Given the description of an element on the screen output the (x, y) to click on. 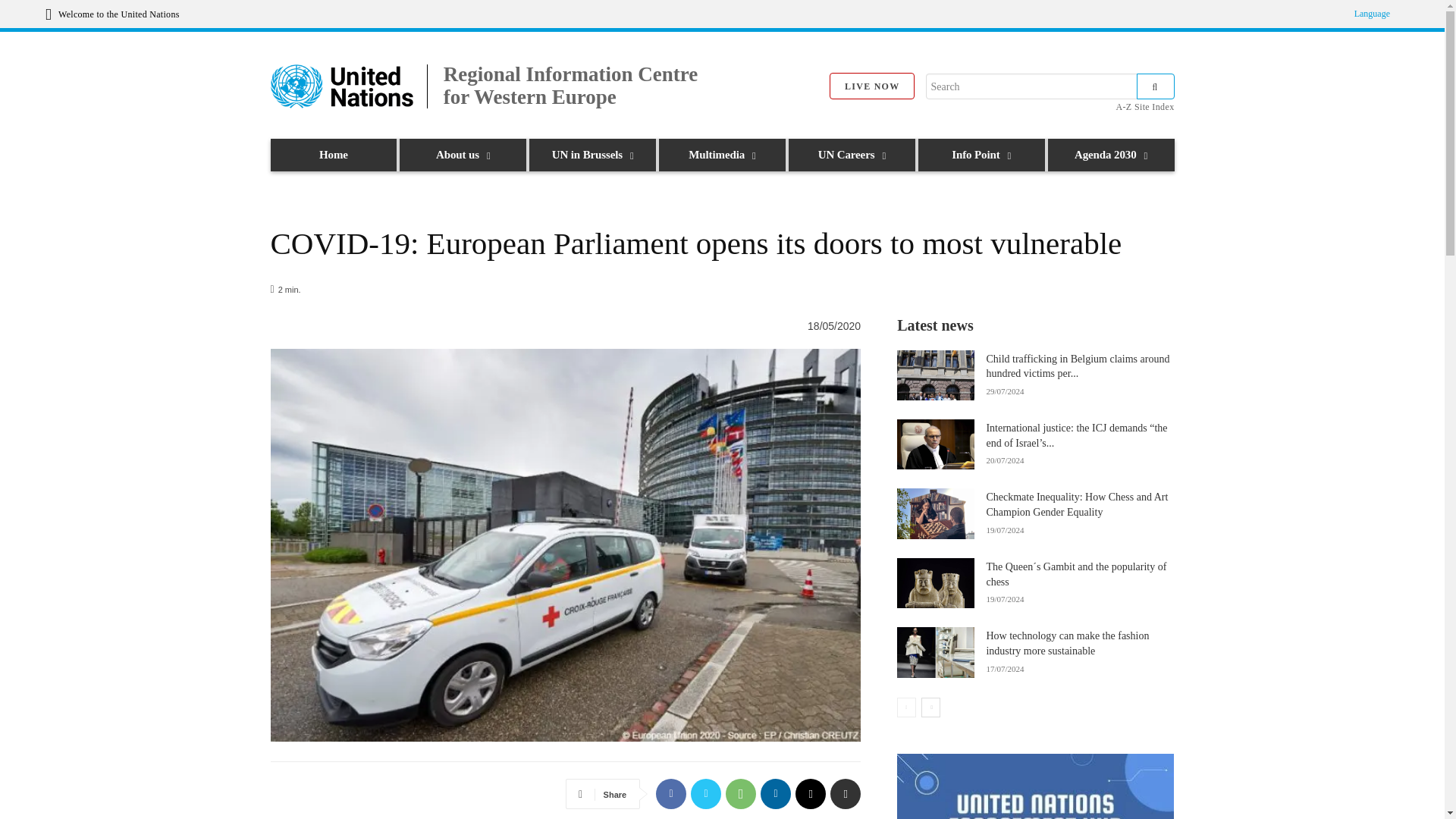
WhatsApp (740, 793)
Twitter (705, 793)
Welcome to the United Nations (112, 13)
Email (809, 793)
Facebook (670, 793)
Live now (871, 85)
Linkedin (775, 793)
